Given the description of an element on the screen output the (x, y) to click on. 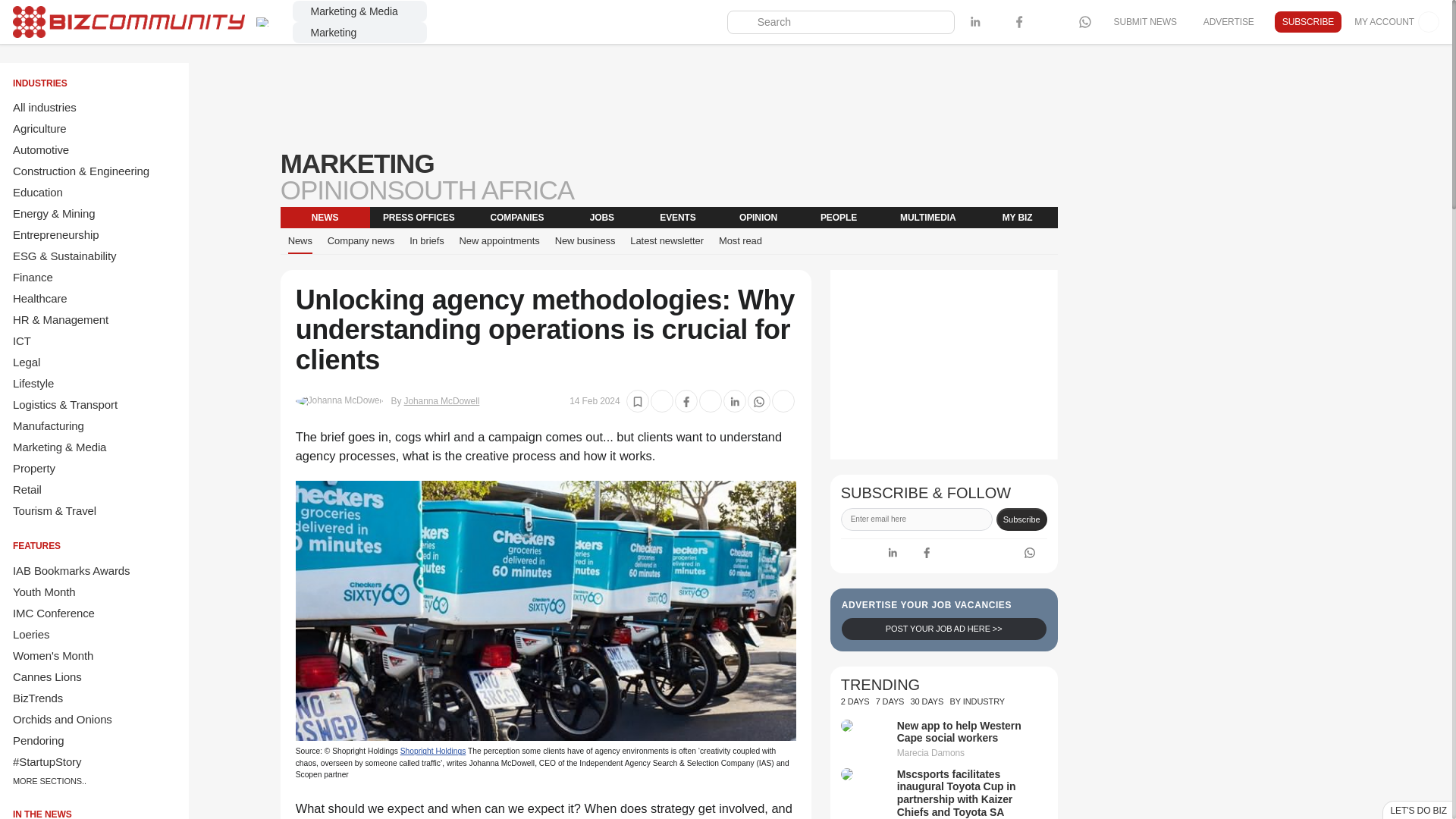
Bizcommunity linked (975, 22)
Bizcommunity youtube (1062, 22)
MY ACCOUNT (1396, 21)
SUBMIT NEWS (1144, 21)
Bizcommunity facebook (1084, 22)
ADVERTISE (1228, 21)
Bizcommunity facebook (926, 552)
Bizcommunity instagram (1040, 22)
Marketing (359, 32)
Bizcommunity linked (892, 552)
SUBSCRIBE (1307, 21)
Bizcommunity facebook (1018, 22)
